Given the description of an element on the screen output the (x, y) to click on. 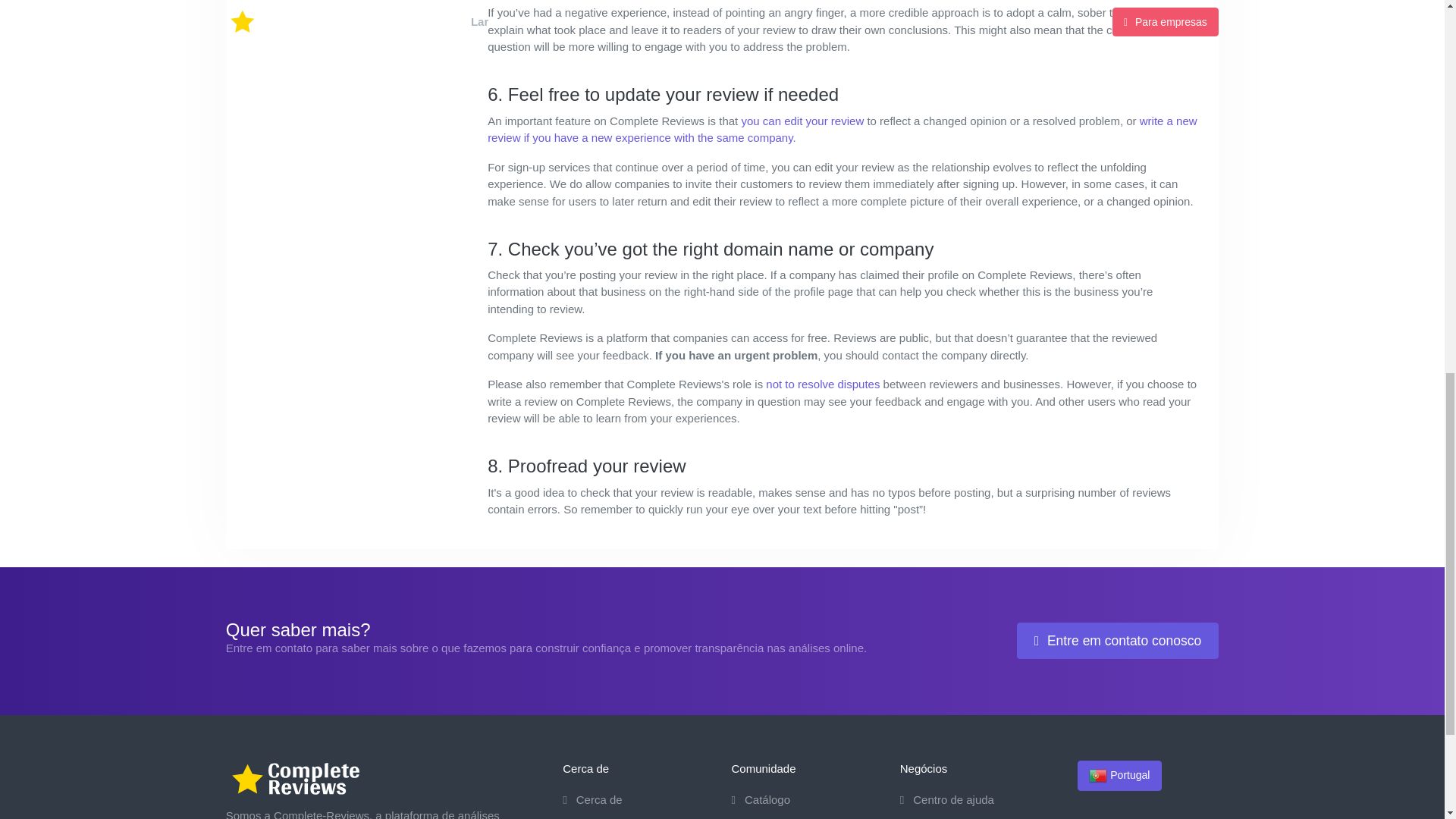
you can edit your review (802, 120)
Entre em contato conosco (1118, 640)
not to resolve disputes (822, 383)
Portugal (1119, 775)
Centro de ajuda (946, 799)
Cerca de (591, 799)
